Given the description of an element on the screen output the (x, y) to click on. 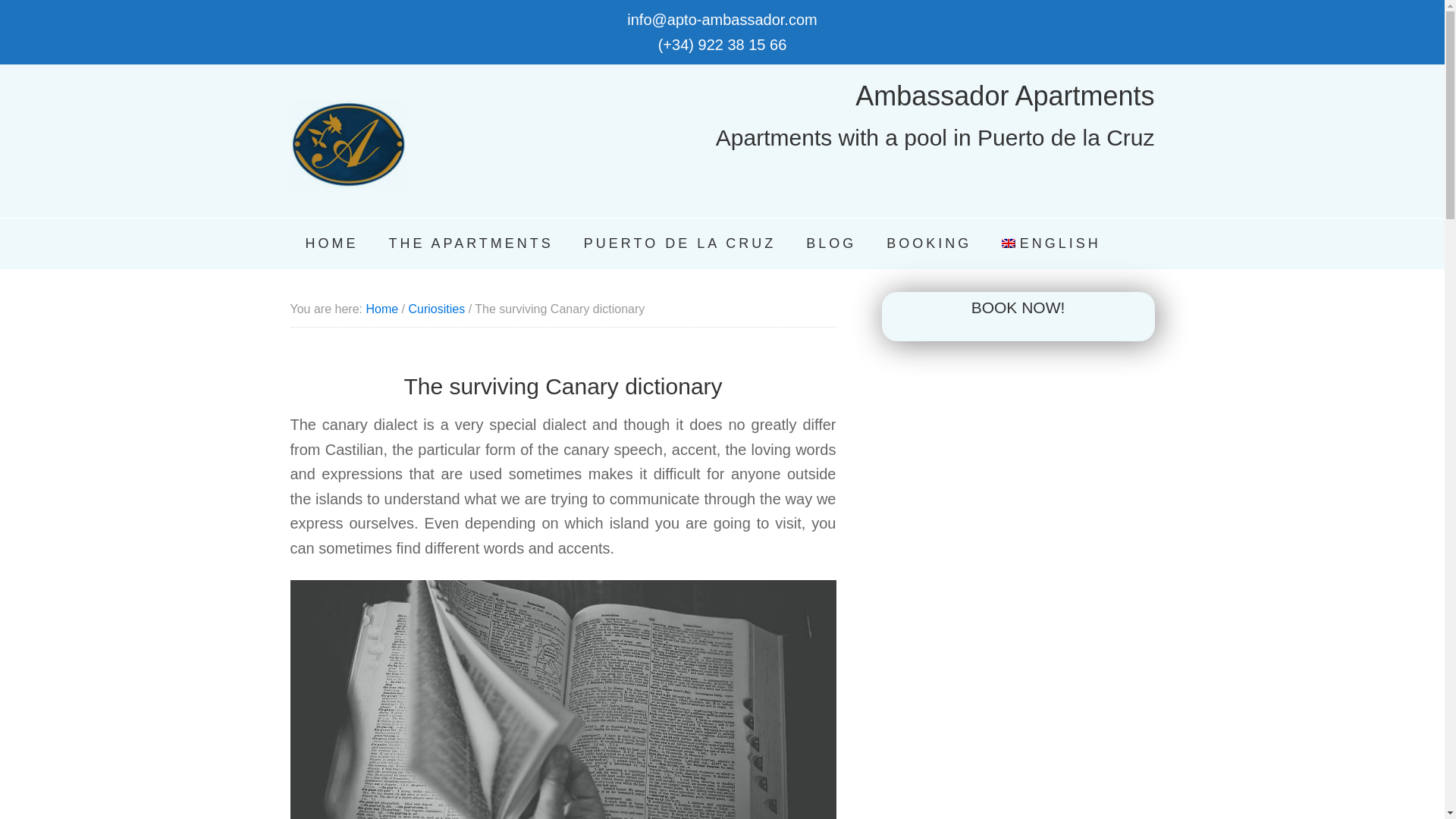
English (1051, 243)
PUERTO DE LA CRUZ (679, 243)
HOME (330, 243)
BLOG (830, 243)
Curiosities (435, 308)
ENGLISH (1051, 243)
Home (381, 308)
BOOKING (928, 243)
THE APARTMENTS (469, 243)
